Given the description of an element on the screen output the (x, y) to click on. 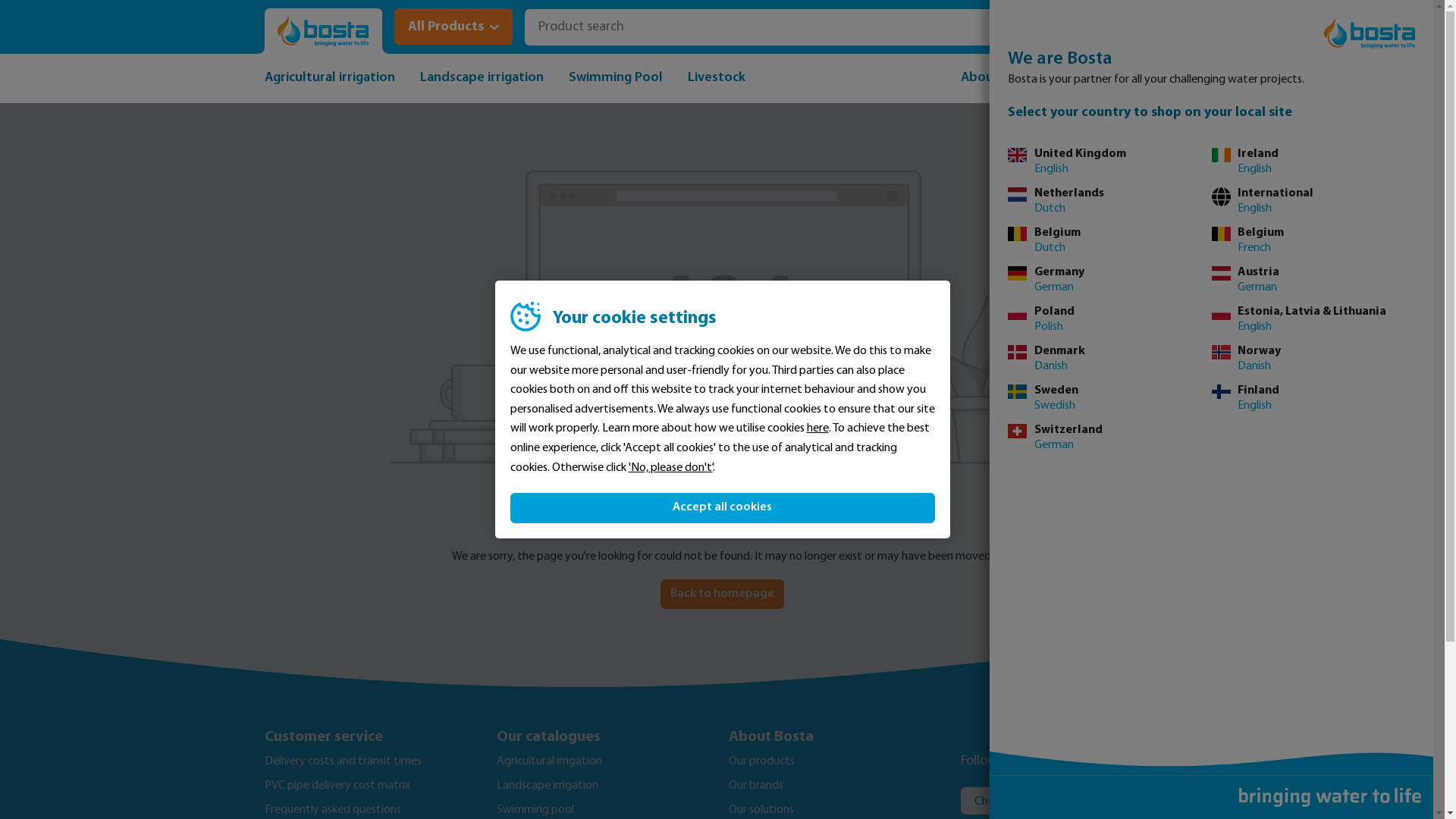
Belgium
Dutch Element type: text (1109, 240)
Germany
German Element type: text (1109, 279)
Livestock Element type: text (715, 78)
Agricultural irrigation Element type: text (548, 761)
My account Element type: hover (1074, 26)
Swimming pool Element type: text (534, 809)
PVC pipe delivery cost matrix Element type: text (336, 785)
About Bosta Element type: text (998, 78)
Our products Element type: text (760, 761)
Back to homepage Element type: text (722, 594)
Switzerland
German Element type: text (1109, 437)
Landscape irrigation Element type: text (546, 785)
Netherlands
Dutch Element type: text (1109, 200)
Favourite list Element type: hover (1118, 26)
Swimming Pool Element type: text (615, 78)
Customer service Element type: text (373, 736)
Poland
Polish Element type: text (1109, 318)
Austria
German Element type: text (1313, 279)
Choose another country Element type: text (1047, 800)
Norway
Danish Element type: text (1313, 358)
International
English Element type: text (1313, 200)
here Element type: text (817, 429)
Linkedin Element type: hover (1070, 761)
Frequently asked questions Element type: text (331, 809)
Agricultural irrigation Element type: text (328, 78)
Go to homepage Element type: hover (322, 31)
Youtube Element type: hover (1105, 761)
United Kingdom
English Element type: text (1109, 161)
Ireland
English Element type: text (1313, 161)
Our catalogues Element type: text (605, 736)
Service Element type: text (1083, 78)
Finland
English Element type: text (1313, 397)
Sweden
Swedish Element type: text (1109, 397)
Our solutions Element type: text (760, 809)
Estonia, Latvia & Lithuania
English Element type: text (1313, 318)
Belgium
French Element type: text (1313, 240)
Denmark
Danish Element type: text (1109, 358)
Shopping cart Element type: hover (1164, 26)
Facebook Element type: hover (1037, 761)
Our brands Element type: text (755, 785)
Delivery costs and transit times Element type: text (341, 761)
About Bosta Element type: text (837, 736)
Landscape irrigation Element type: text (481, 78)
Accept all cookies Element type: text (721, 507)
Contact Element type: text (1155, 78)
All Products Element type: text (453, 30)
